Given the description of an element on the screen output the (x, y) to click on. 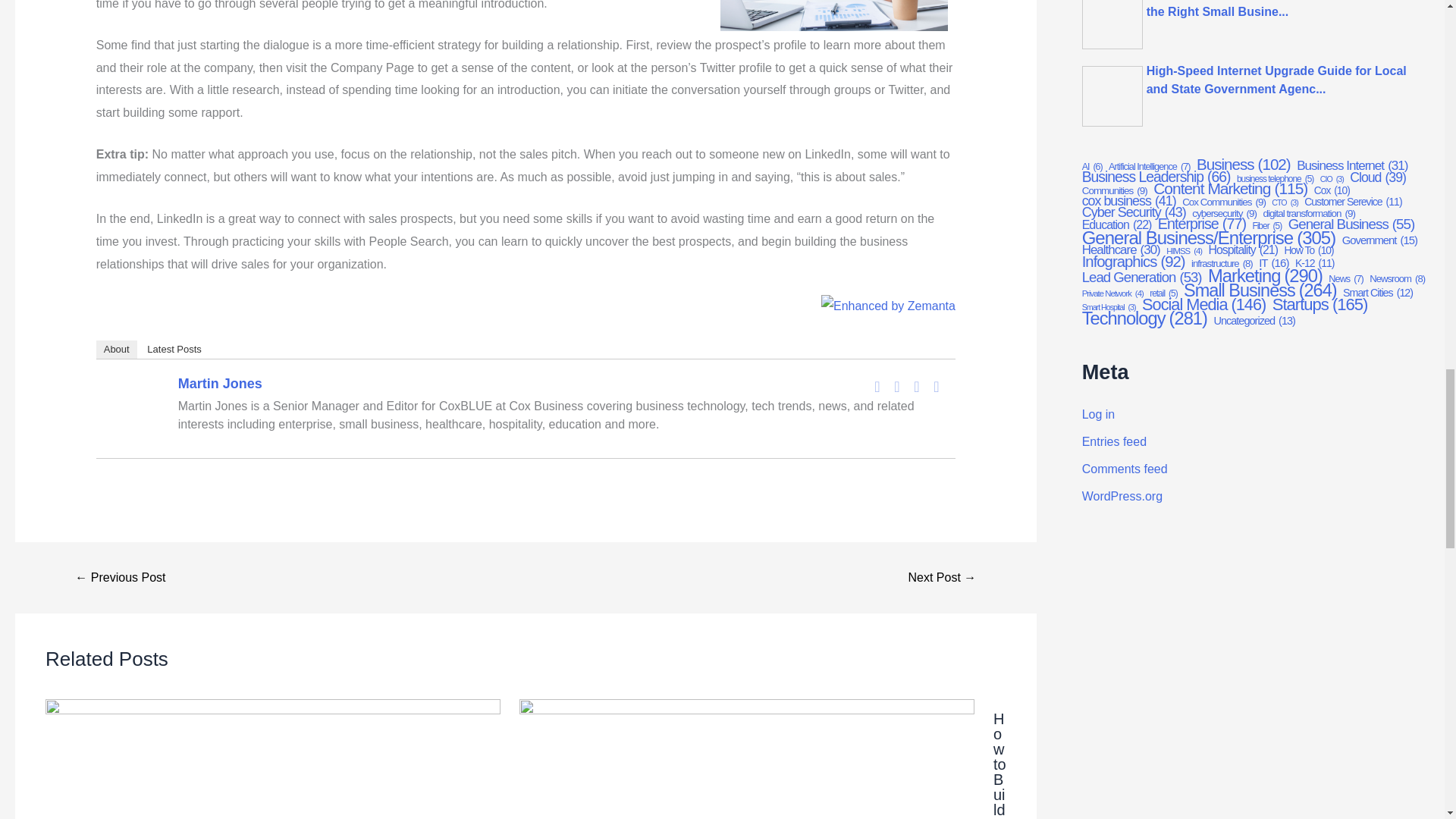
LinkedIn (916, 386)
Instagram (935, 386)
Twitter (896, 386)
Facebook (876, 386)
